Given the description of an element on the screen output the (x, y) to click on. 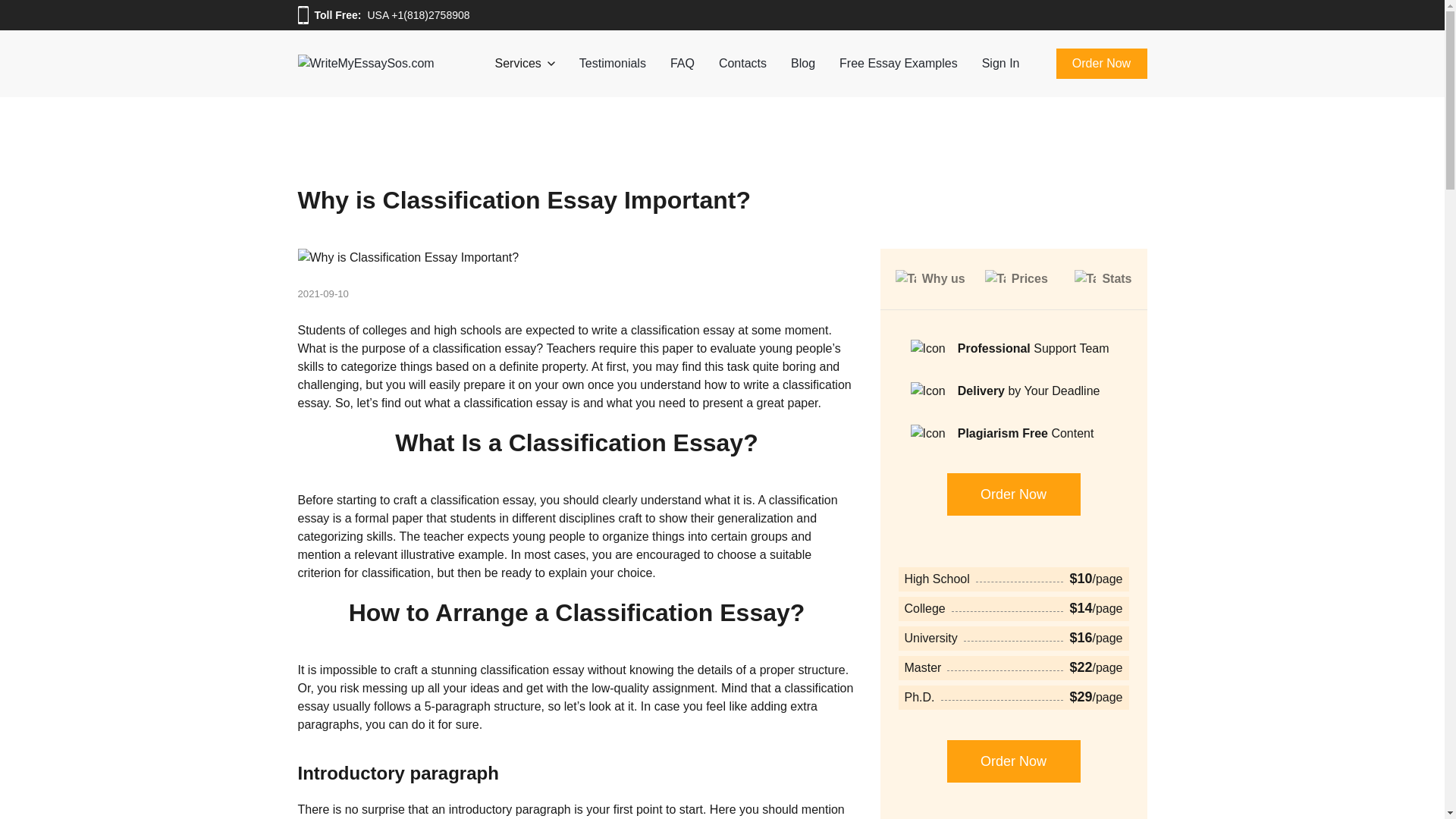
Icon (927, 348)
Tab (1085, 279)
Tab (994, 279)
Icon (927, 434)
Tab (905, 279)
Icon (927, 391)
